Given the description of an element on the screen output the (x, y) to click on. 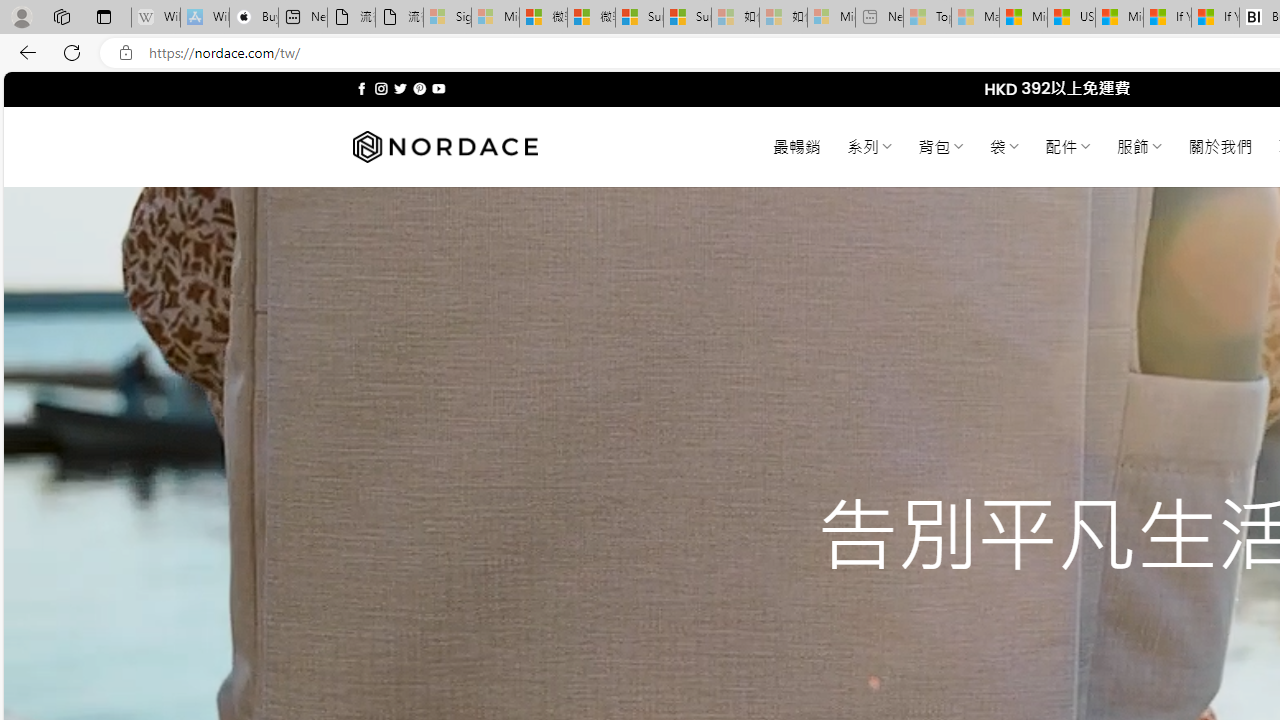
Follow on Facebook (361, 88)
Sign in to your Microsoft account - Sleeping (447, 17)
Follow on YouTube (438, 88)
Marine life - MSN - Sleeping (975, 17)
Microsoft account | Account Checkup - Sleeping (831, 17)
